Given the description of an element on the screen output the (x, y) to click on. 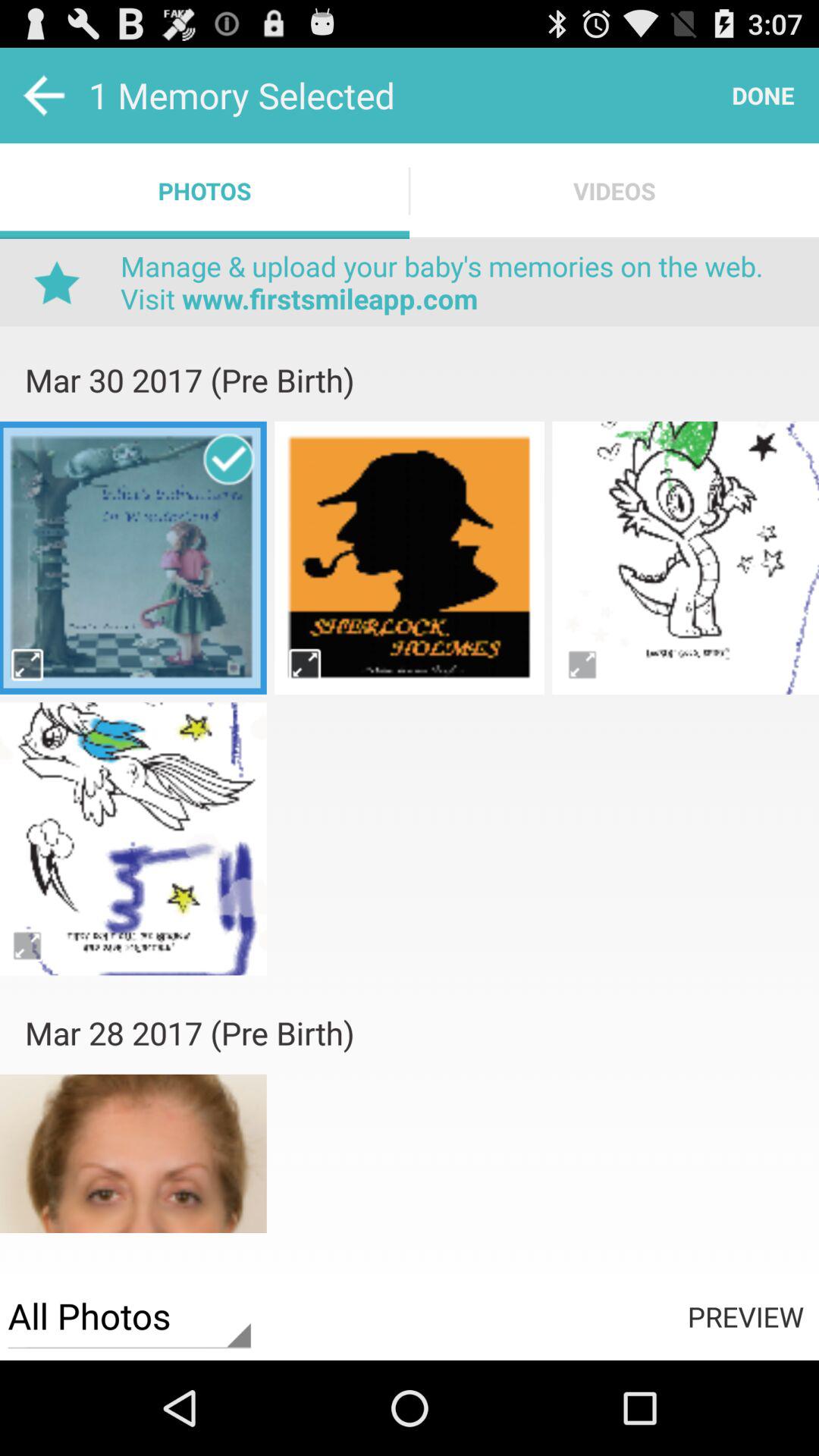
game image (133, 557)
